Given the description of an element on the screen output the (x, y) to click on. 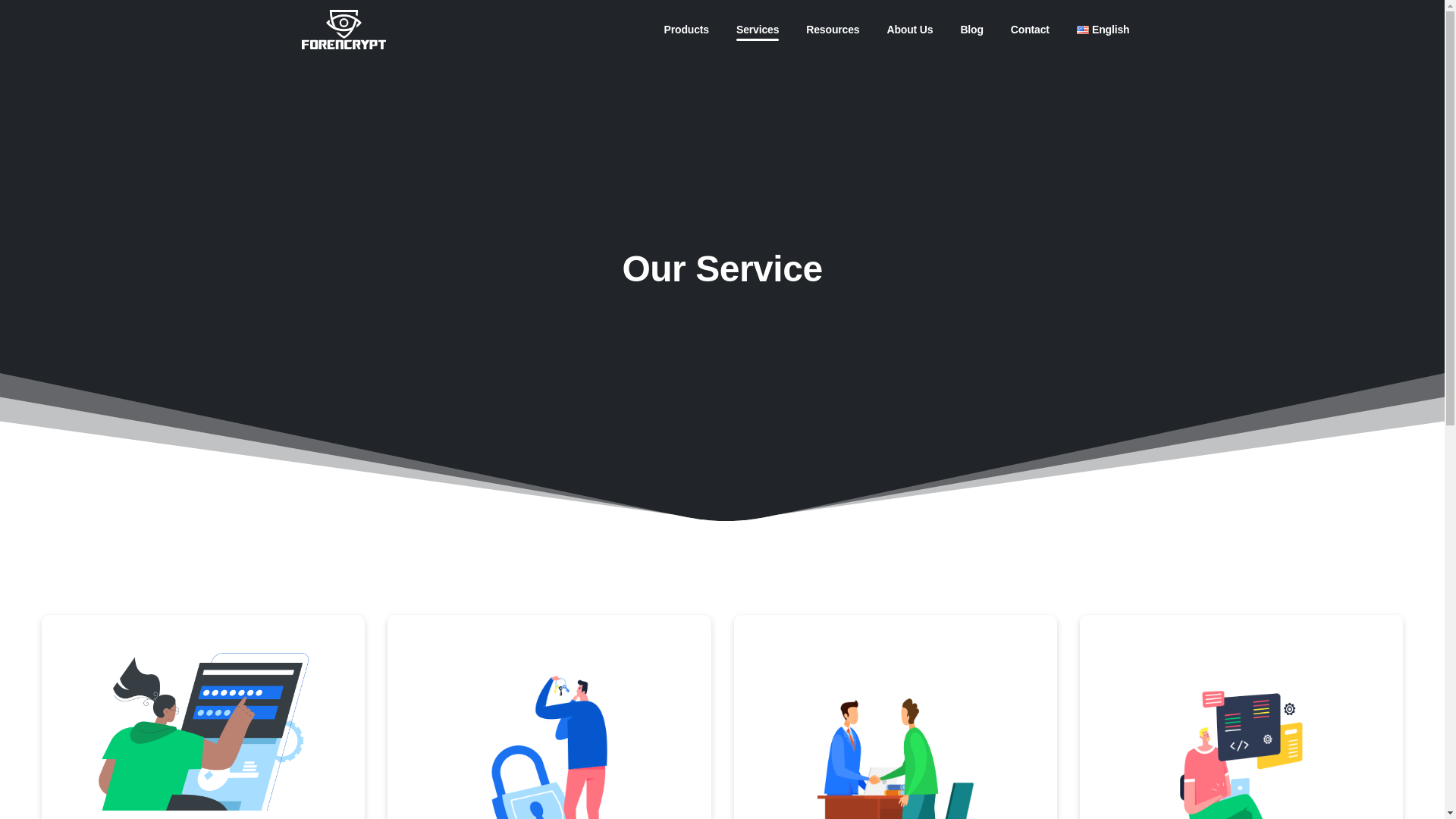
Contact (1029, 29)
Resources (831, 29)
Services (722, 29)
About Us (757, 29)
Contact (909, 29)
Blog (1029, 29)
Resources (970, 29)
Blog (831, 29)
English (970, 29)
